Given the description of an element on the screen output the (x, y) to click on. 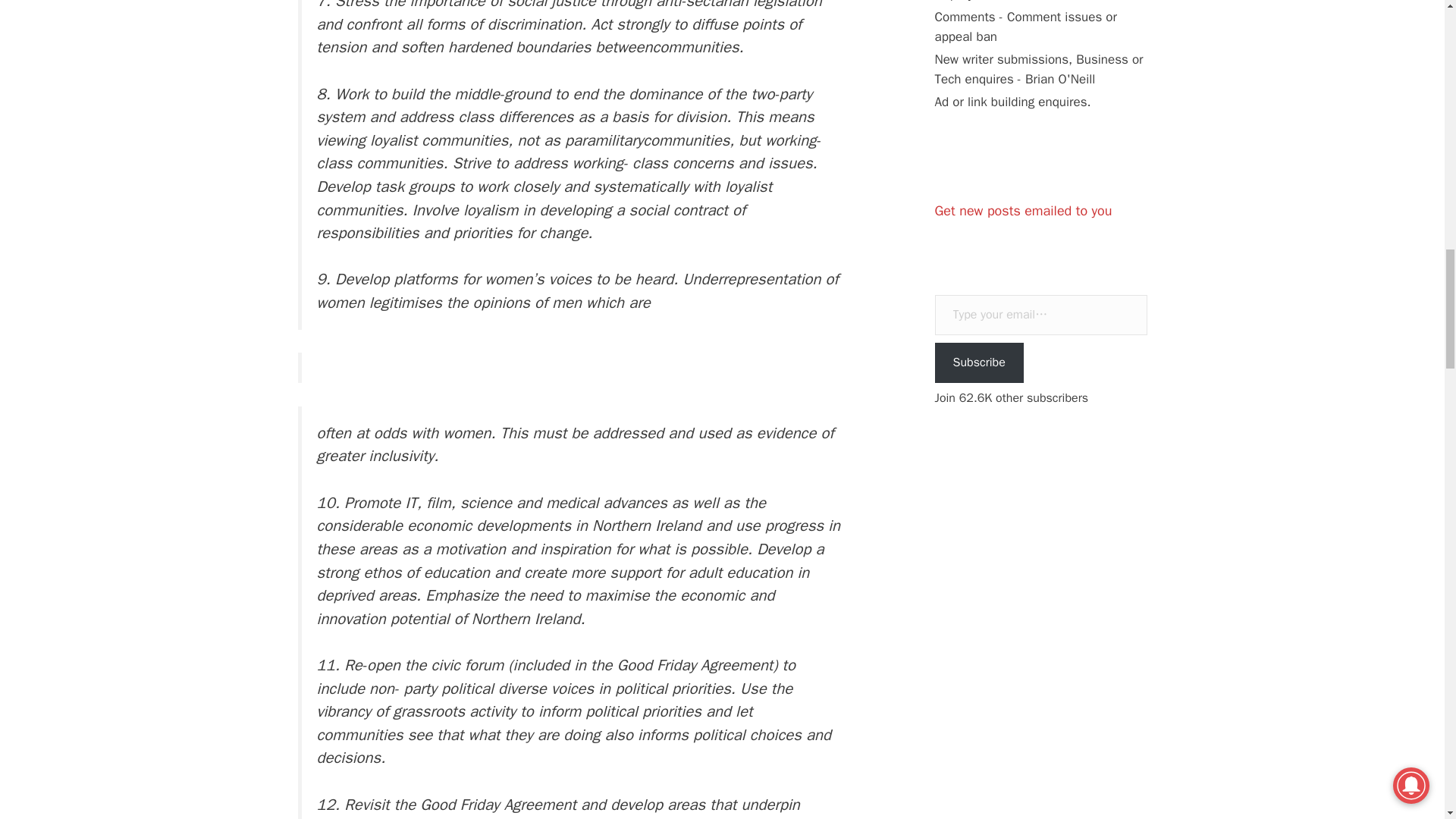
Please fill in this field. (1040, 314)
